Given the description of an element on the screen output the (x, y) to click on. 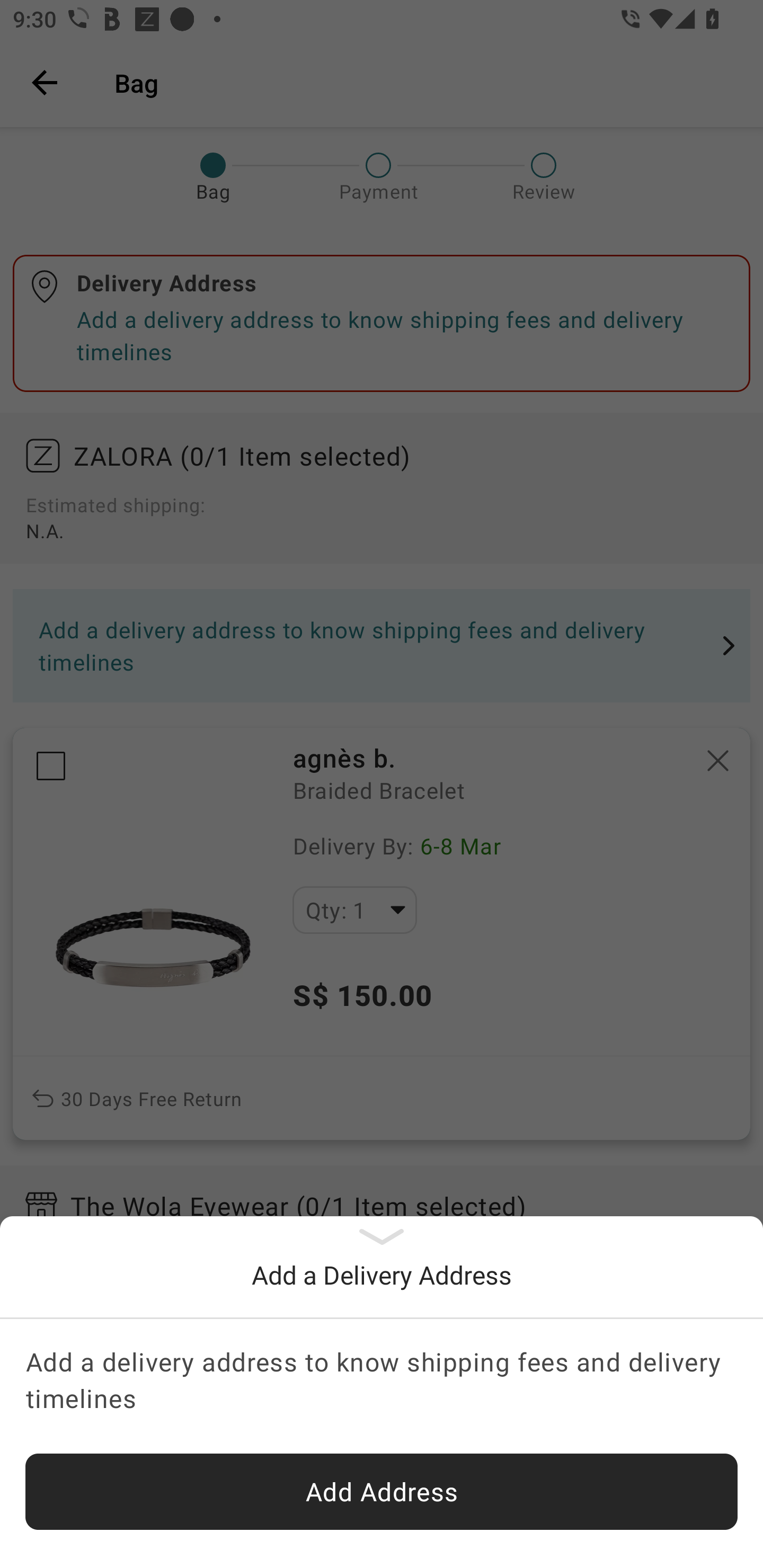
Add Address (381, 1491)
